Given the description of an element on the screen output the (x, y) to click on. 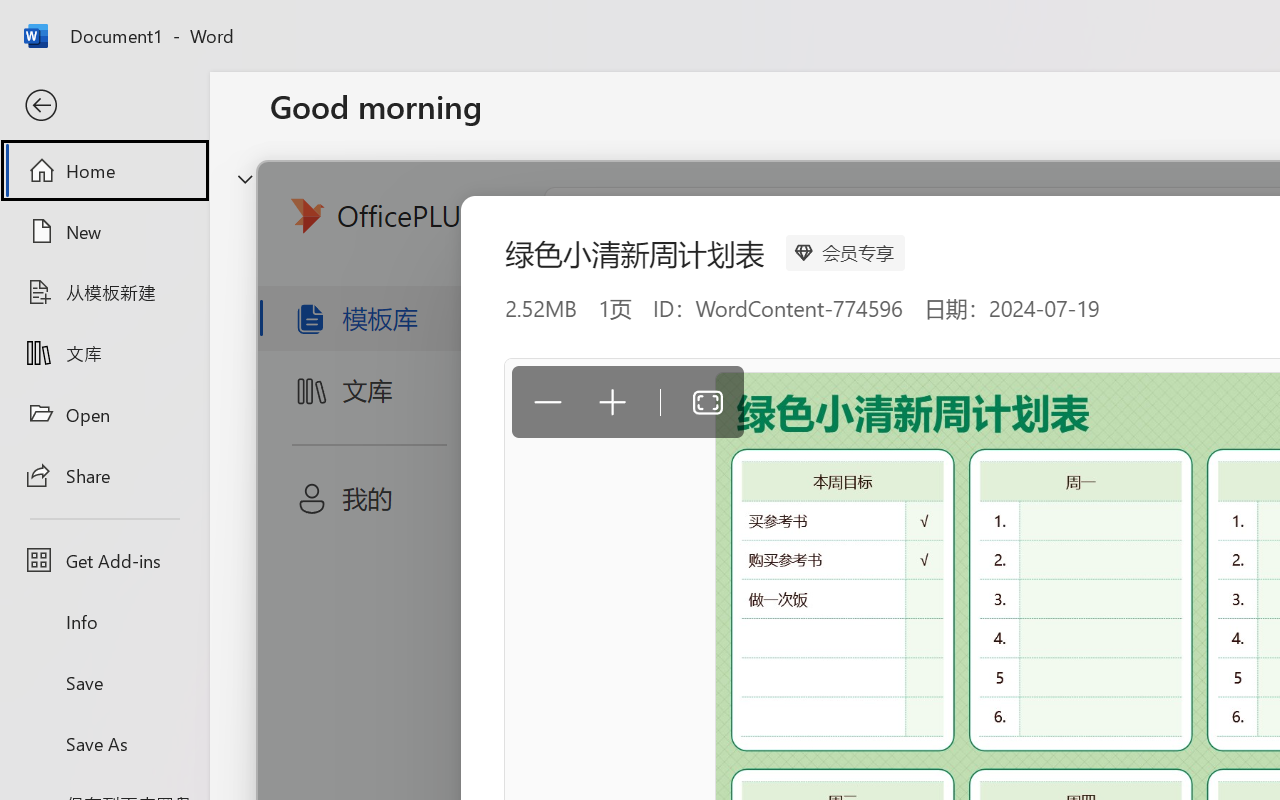
Info (104, 621)
Blank document (405, 332)
